Given the description of an element on the screen output the (x, y) to click on. 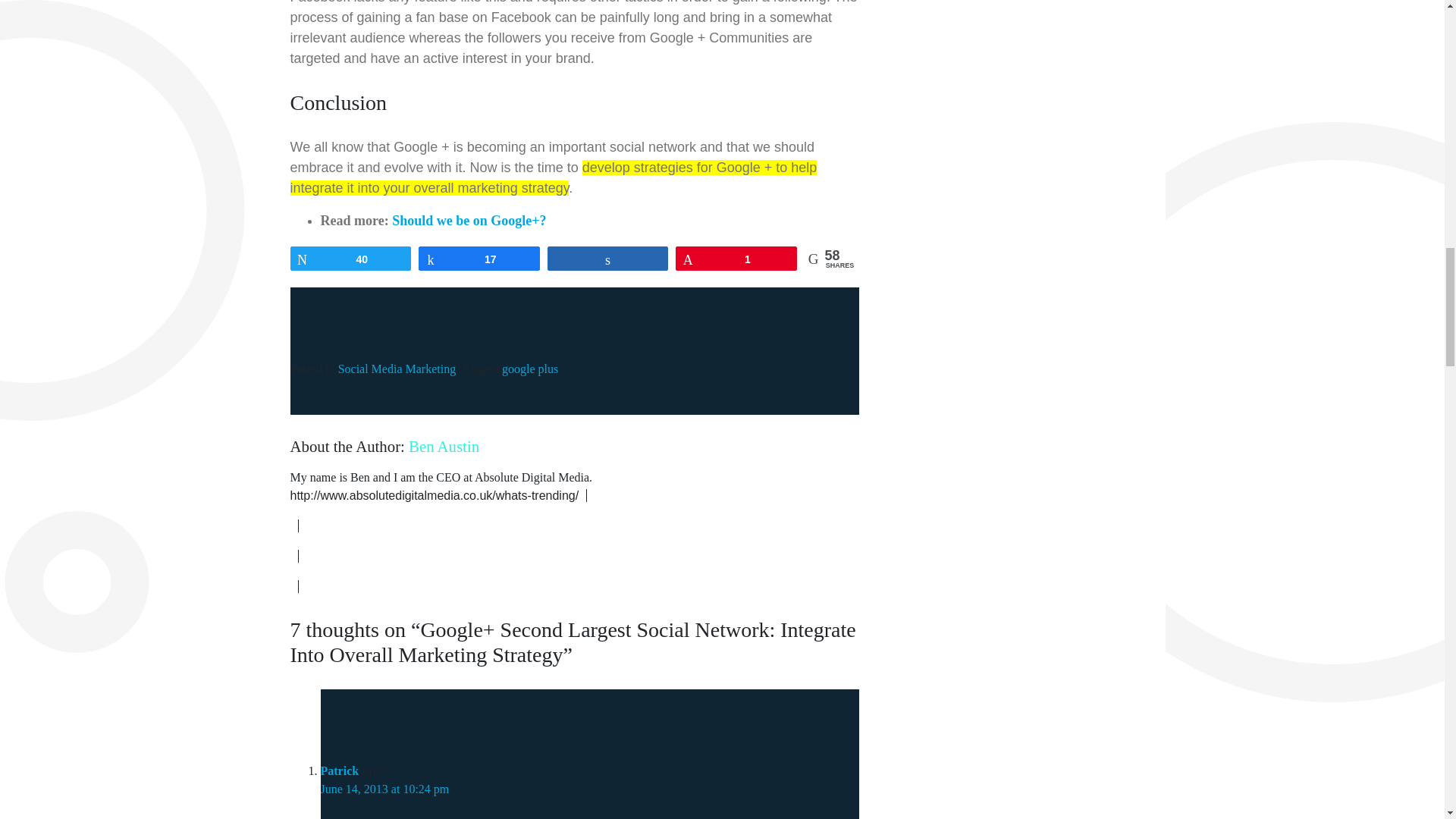
Patrick (339, 770)
1 (736, 258)
google plus (529, 368)
Social Media Marketing (397, 368)
June 14, 2013 at 10:24 pm (384, 788)
17 (478, 258)
A Framework To Answer The Question "Should I Be On?" (468, 220)
40 (350, 258)
Ben Austin (444, 446)
